Given the description of an element on the screen output the (x, y) to click on. 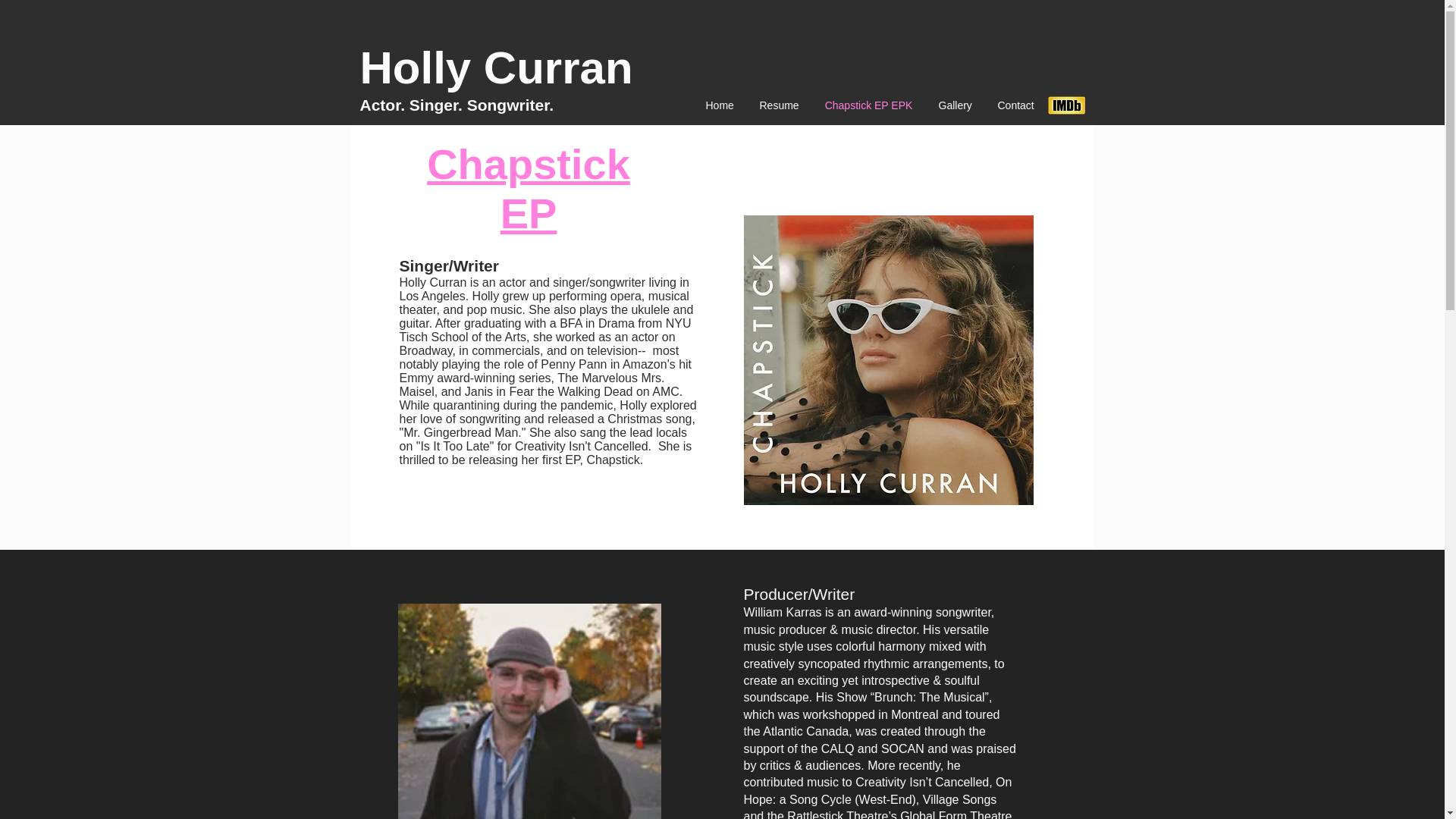
Chapstick EP (528, 188)
Chapstick EP EPK (867, 105)
Home (719, 105)
Contact (1015, 105)
Gallery (954, 105)
Resume (777, 105)
